Given the description of an element on the screen output the (x, y) to click on. 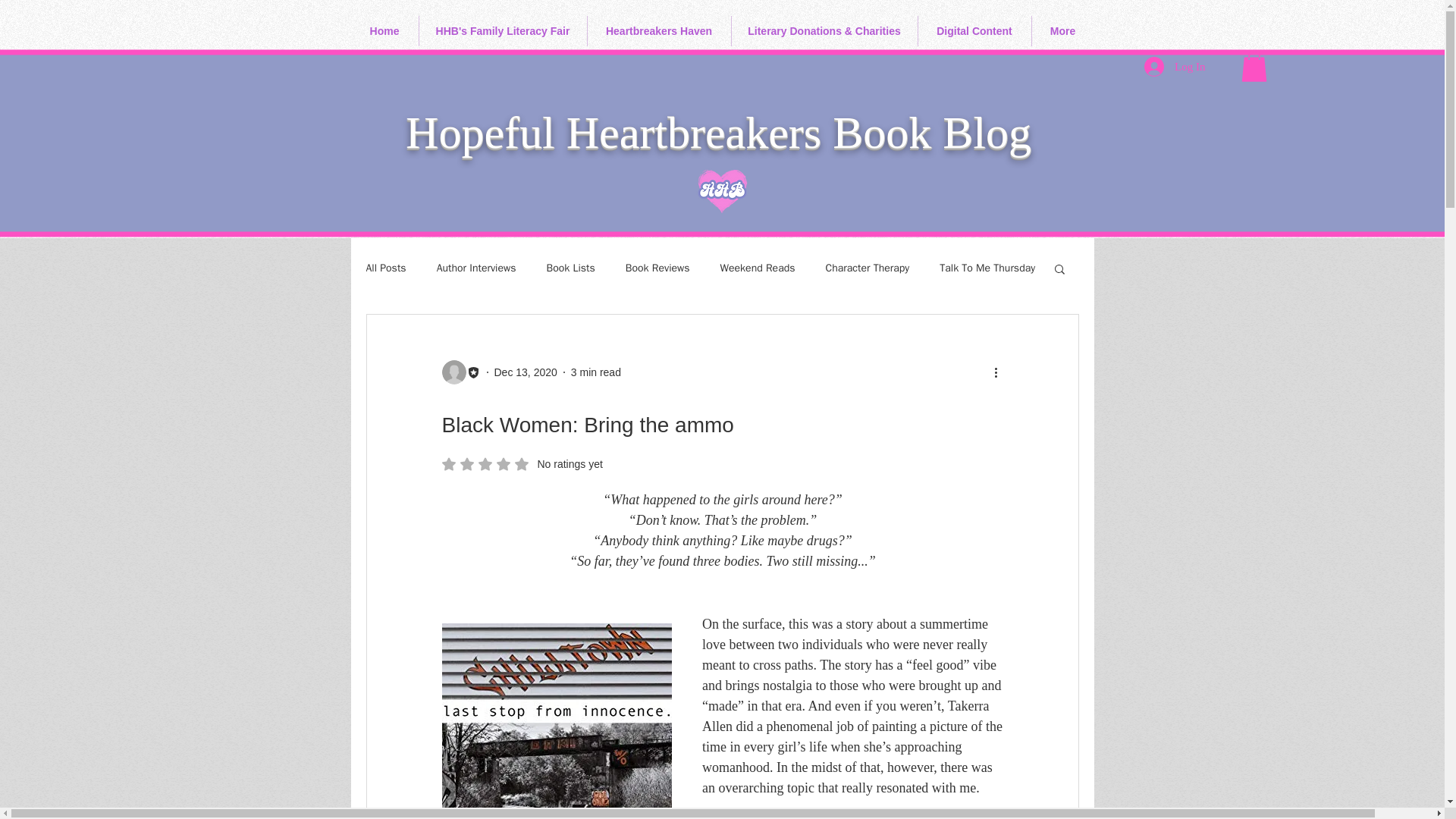
Talk To Me Thursday (987, 268)
All Posts (385, 268)
Home (383, 30)
Book Reviews (658, 268)
Weekend Reads (521, 463)
3 min read (757, 268)
Digital Content (595, 371)
Heartbreakers Haven (973, 30)
Character Therapy (658, 30)
Author Interviews (867, 268)
Dec 13, 2020 (476, 268)
HHB's Family Literacy Fair (526, 371)
Book Lists (502, 30)
Log In (570, 268)
